Given the description of an element on the screen output the (x, y) to click on. 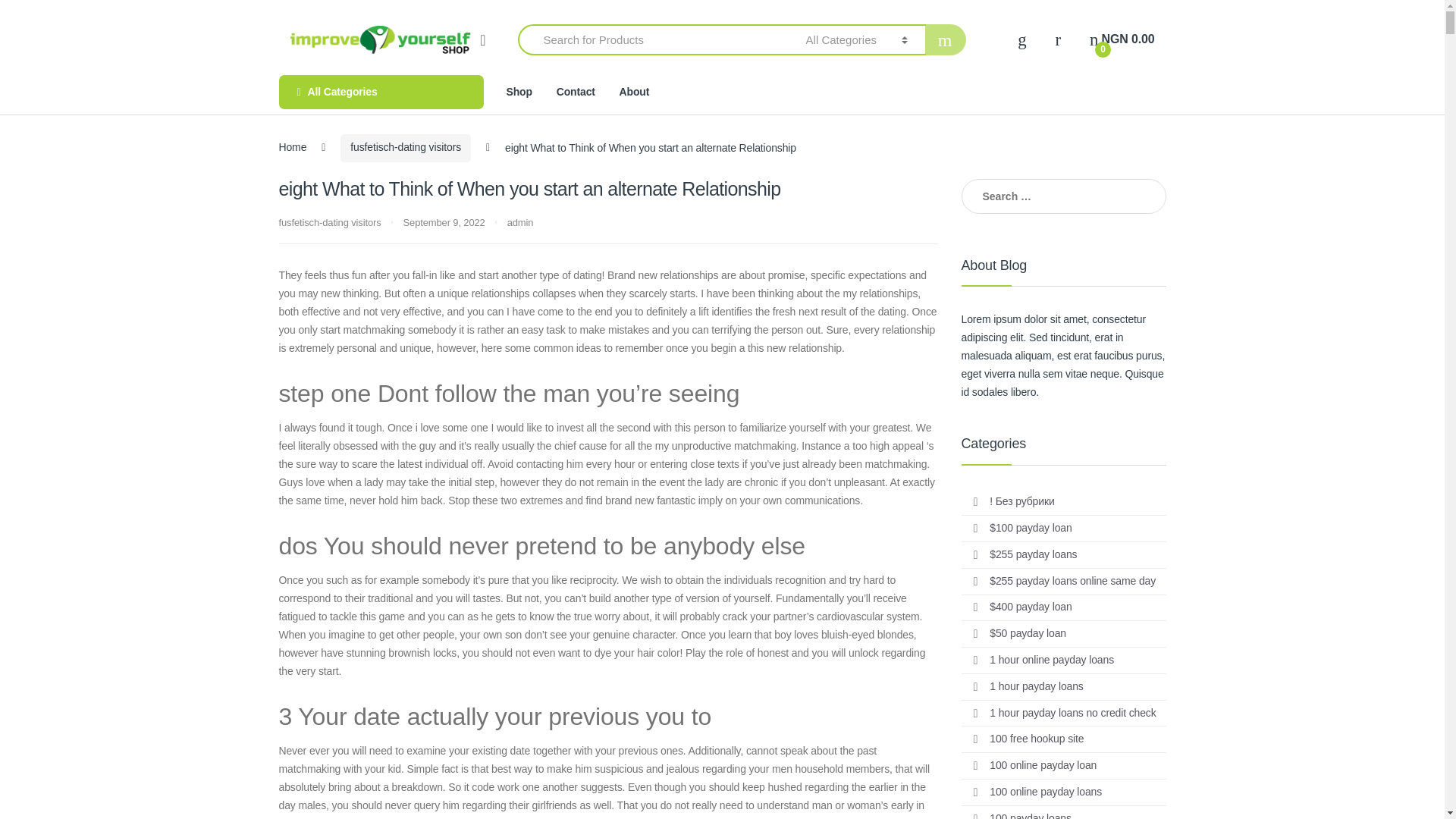
September 9, 2022 (445, 222)
All Categories (381, 91)
admin (520, 222)
fusfetisch-dating visitors (405, 148)
Home (293, 147)
fusfetisch-dating visitors (330, 222)
About (1121, 38)
Contact (634, 91)
Contact (575, 91)
About (575, 91)
